Given the description of an element on the screen output the (x, y) to click on. 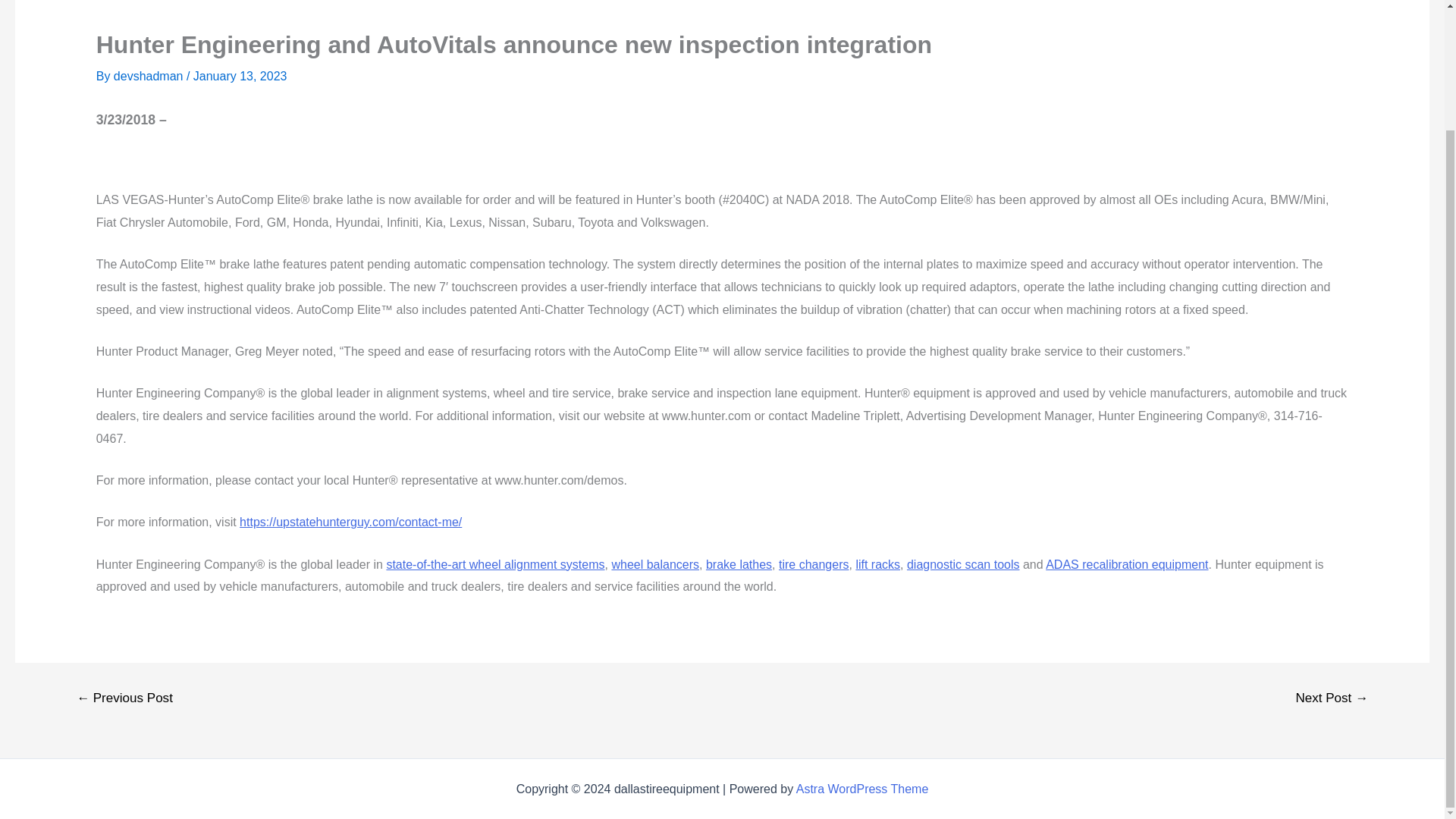
state-of-the-art wheel alignment systems (494, 563)
Astra WordPress Theme (862, 788)
diagnostic scan tools (963, 563)
lift racks (877, 563)
tire changers (813, 563)
brake lathes (738, 563)
wheel balancers (654, 563)
View all posts by devshadman (149, 75)
devshadman (149, 75)
ADAS recalibration equipment (1126, 563)
